Given the description of an element on the screen output the (x, y) to click on. 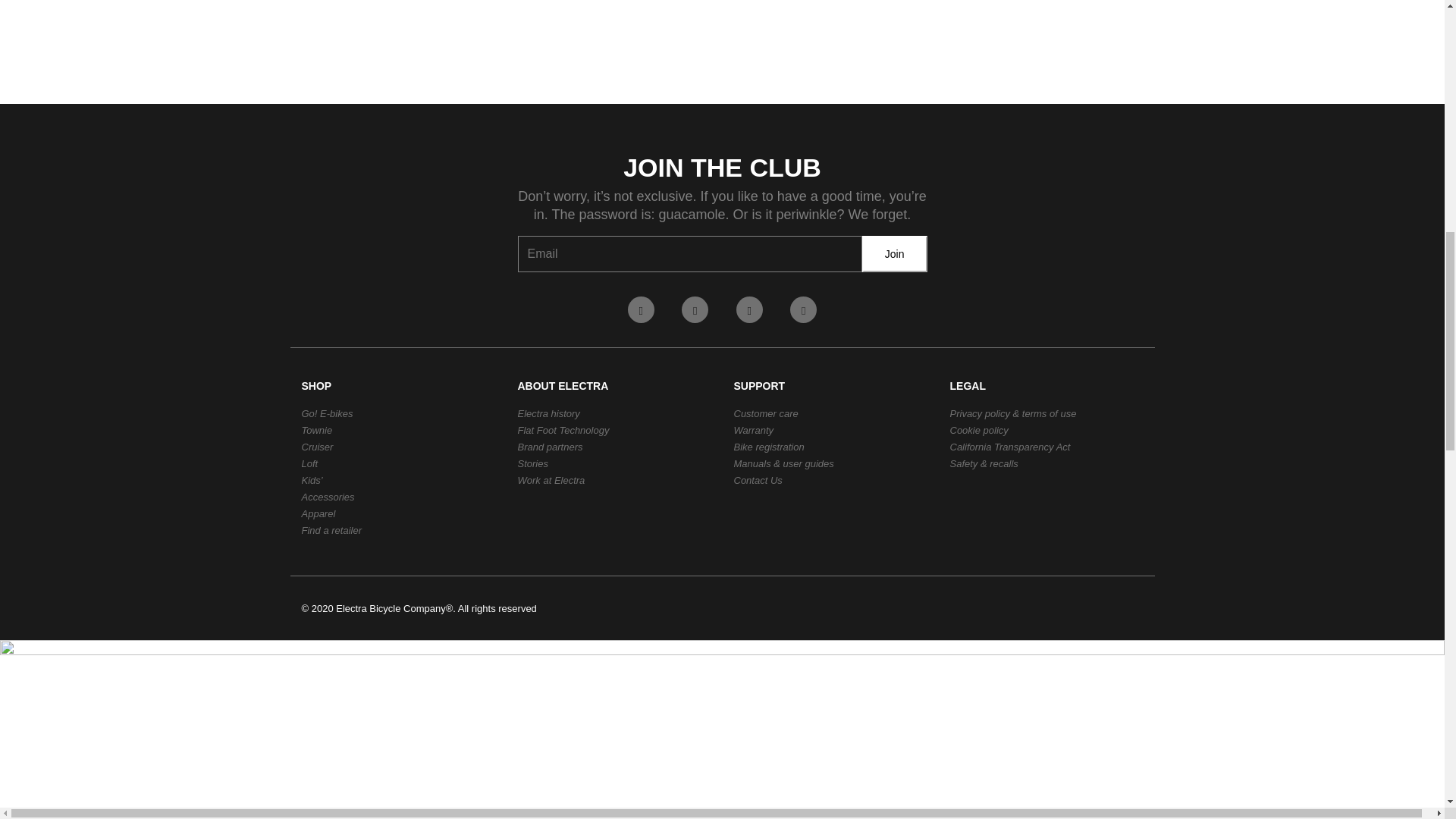
Cruiser (317, 446)
Townie (317, 430)
Go! E-bikes (327, 413)
Twitter (694, 309)
Instagram (749, 309)
Join (894, 253)
Facebook (640, 309)
Youtube (803, 309)
